Given the description of an element on the screen output the (x, y) to click on. 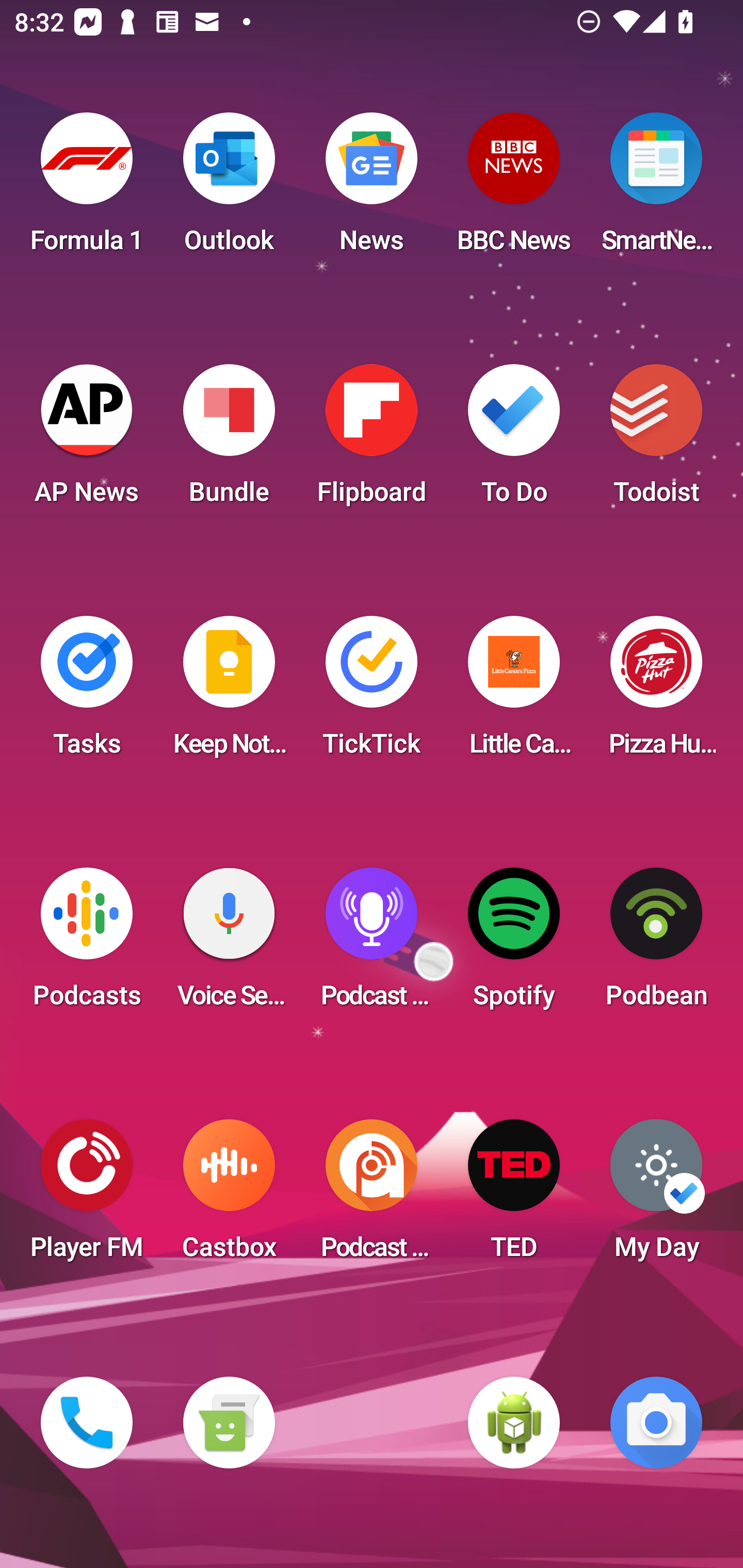
Formula 1 (86, 188)
Outlook (228, 188)
News (371, 188)
BBC News (513, 188)
SmartNews (656, 188)
AP News (86, 440)
Bundle (228, 440)
Flipboard (371, 440)
To Do (513, 440)
Todoist (656, 440)
Tasks (86, 692)
Keep Notes (228, 692)
TickTick (371, 692)
Little Caesars Pizza (513, 692)
Pizza Hut HK & Macau (656, 692)
Podcasts (86, 943)
Voice Search (228, 943)
Podcast Player (371, 943)
Spotify (513, 943)
Podbean (656, 943)
Player FM (86, 1195)
Castbox (228, 1195)
Podcast Addict (371, 1195)
TED (513, 1195)
My Day (656, 1195)
Phone (86, 1422)
Messaging (228, 1422)
WebView Browser Tester (513, 1422)
Camera (656, 1422)
